Given the description of an element on the screen output the (x, y) to click on. 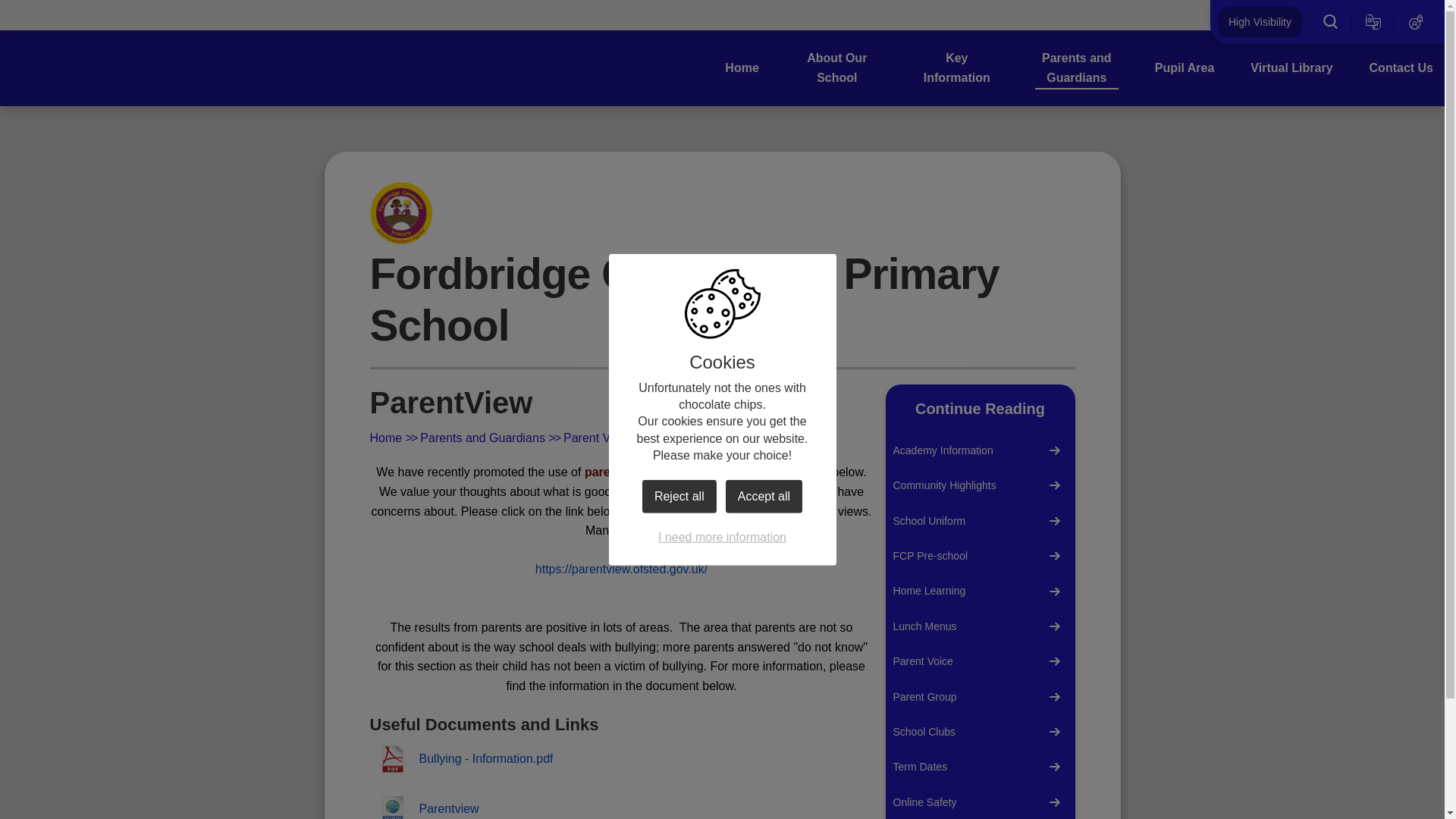
Home (741, 67)
Google Translate (1373, 21)
Google Search (1330, 21)
Key Information (956, 67)
High Visibility (1259, 21)
Log in (1415, 21)
About Our School (836, 67)
